Given the description of an element on the screen output the (x, y) to click on. 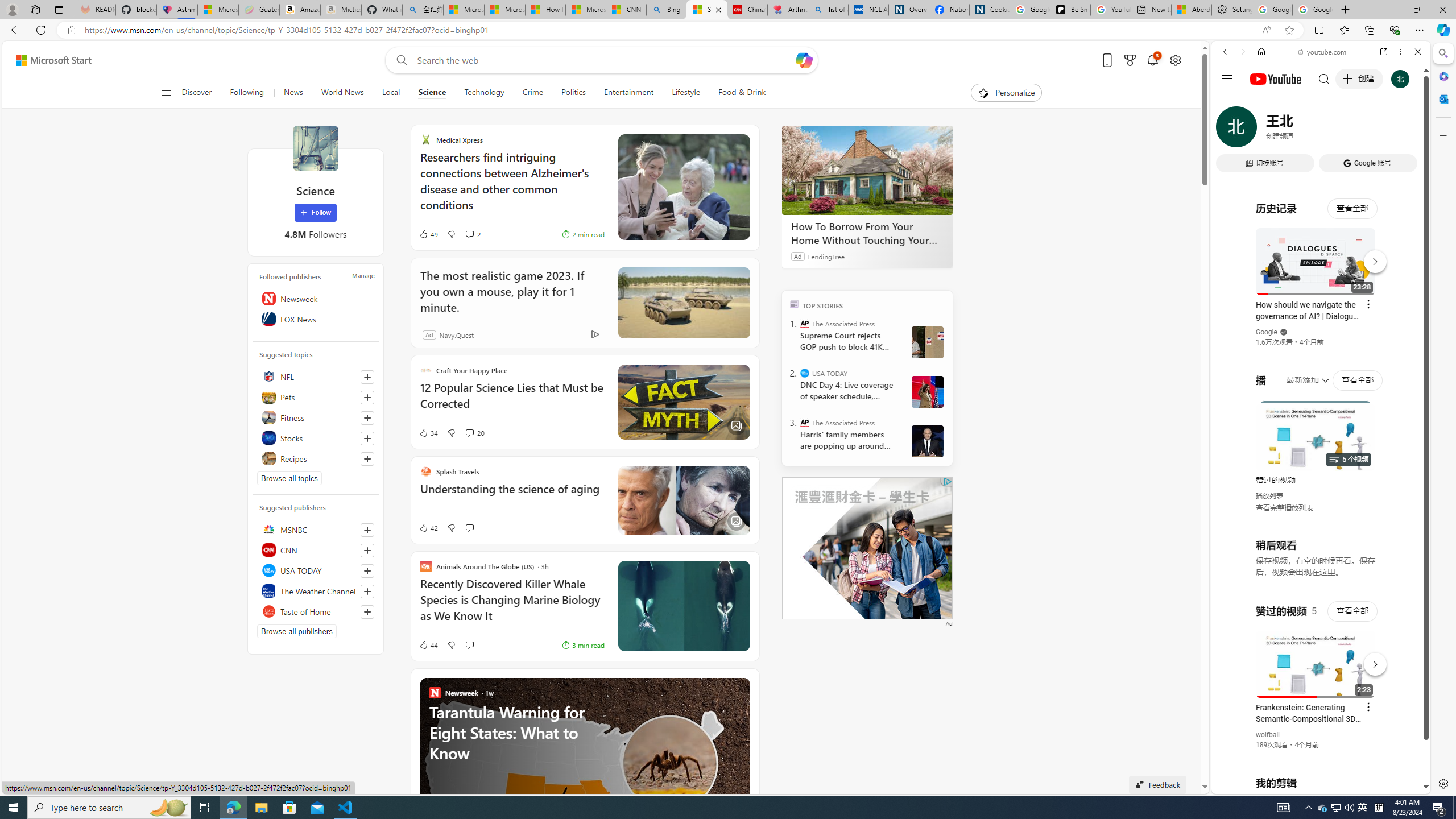
Class: qc-adchoices-link top-right  (946, 481)
Cookies (988, 9)
Understanding the science of aging (511, 494)
Browse all topics (289, 477)
The Weather Channel (315, 590)
LendingTree (826, 256)
Dislike (451, 645)
US[ju] (1249, 785)
